Given the description of an element on the screen output the (x, y) to click on. 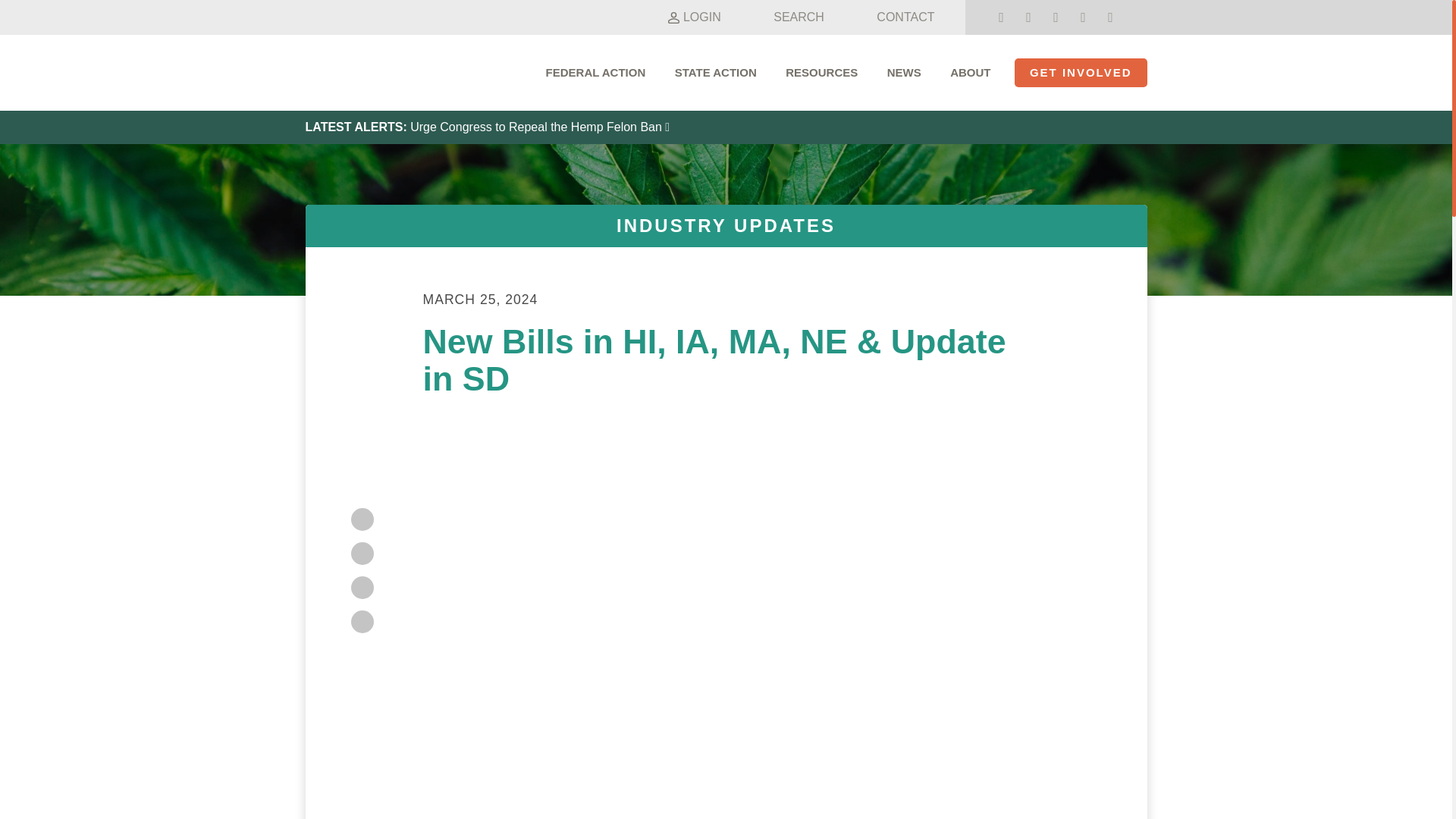
facebook (1000, 16)
twitter (1028, 16)
youtube (1110, 16)
linkedin (1082, 16)
LOGIN (691, 16)
RESOURCES (821, 72)
Urge Congress to Repeal the Hemp Felon Ban (539, 126)
Twitter (361, 553)
CONTACT (895, 16)
instagram (1055, 16)
FEDERAL ACTION (595, 72)
ABOUT (970, 72)
LinkedIn (361, 587)
Email (361, 621)
SEARCH (789, 16)
